Given the description of an element on the screen output the (x, y) to click on. 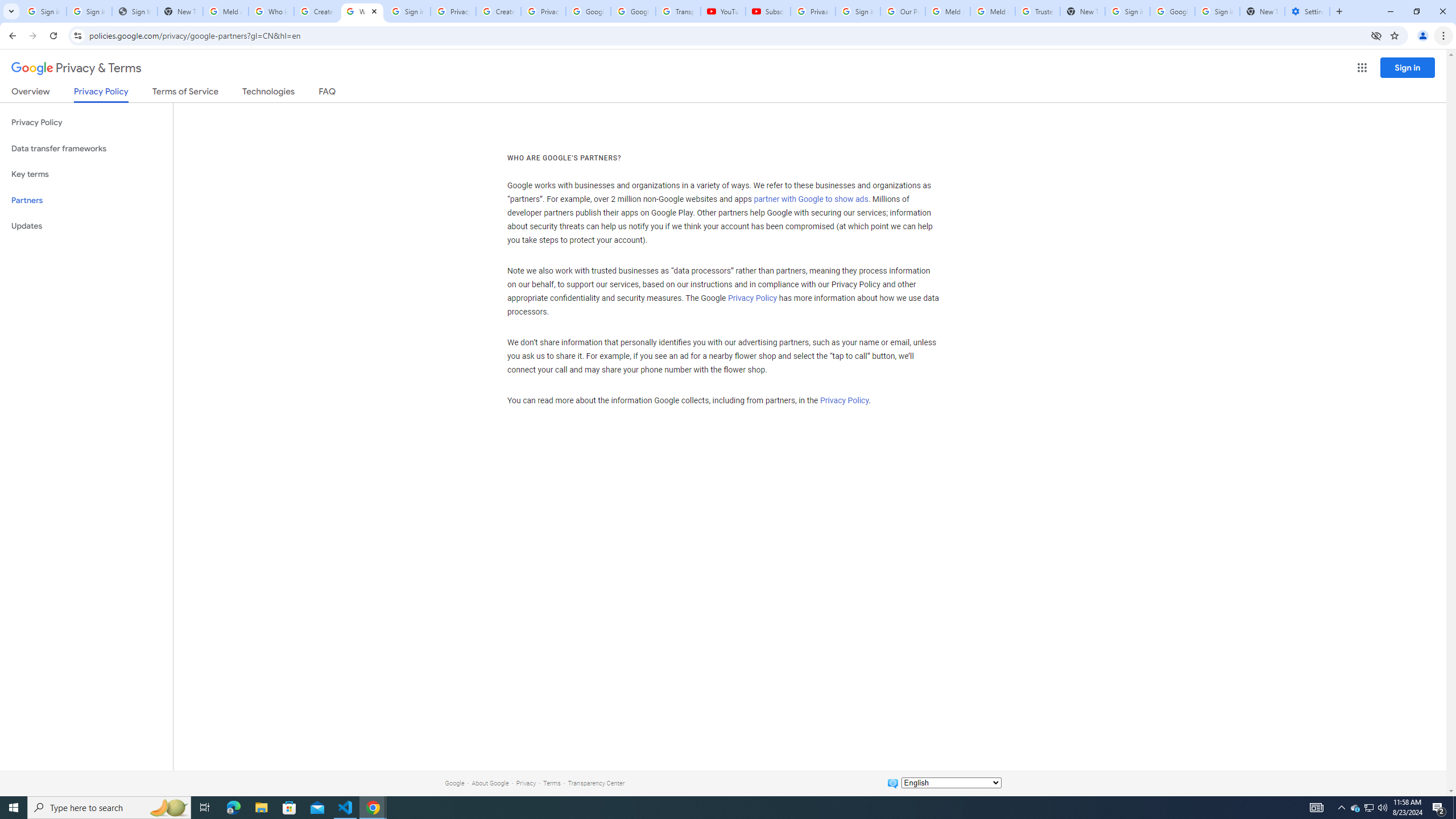
Trusted Information and Content - Google Safety Center (1037, 11)
Settings - Addresses and more (1307, 11)
Sign in - Google Accounts (1126, 11)
About Google (490, 783)
New Tab (1262, 11)
